Given the description of an element on the screen output the (x, y) to click on. 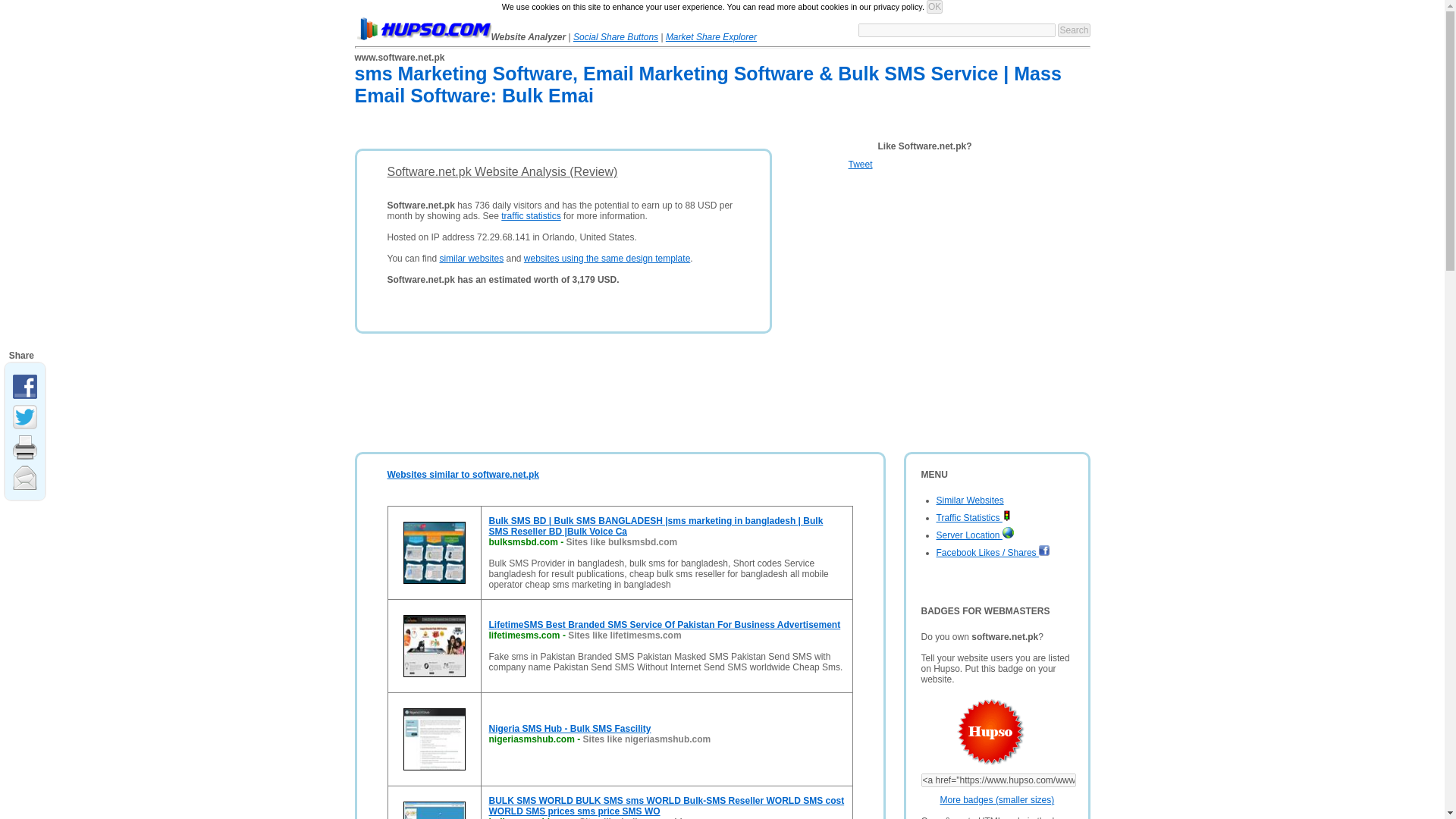
Sites like lifetimesms.com (624, 634)
Market Share Explorer (711, 36)
Sites like bulksmsworld.com (641, 817)
Similar Websites (969, 500)
Nigeria SMS Hub - Bulk SMS Fascility (568, 728)
OK (934, 6)
Email (26, 475)
Server Location (974, 534)
Software.net.pk is listed on Hupso (973, 733)
Sites like nigeriasmshub.com (647, 738)
Sites like bulksmsbd.com (622, 542)
traffic statistics (530, 215)
websites using the same design template (607, 258)
Hupso (423, 28)
